Given the description of an element on the screen output the (x, y) to click on. 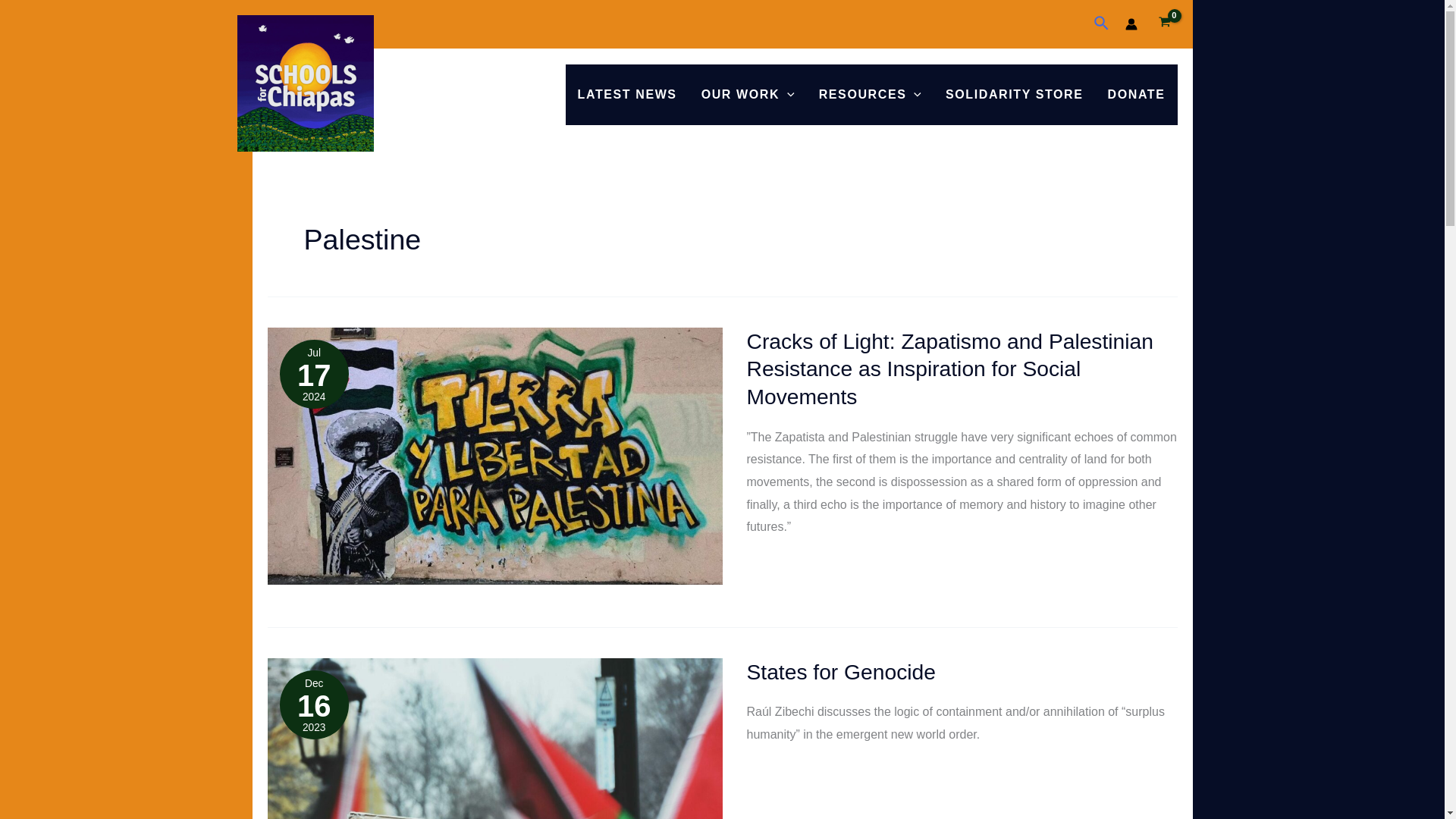
LATEST NEWS (627, 94)
OUR WORK (747, 94)
RESOURCES (869, 94)
